Given the description of an element on the screen output the (x, y) to click on. 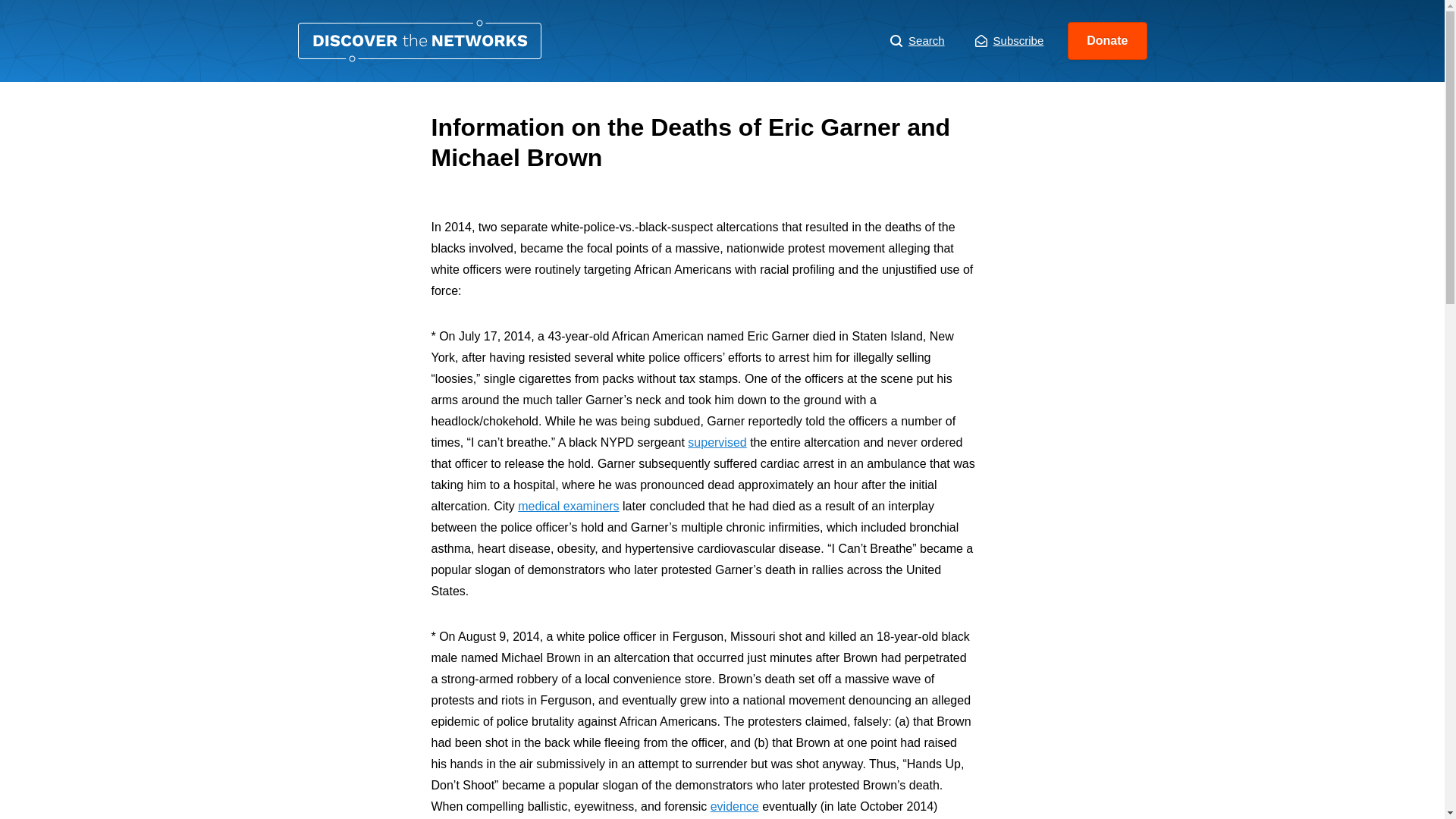
evidence (734, 806)
Search (916, 40)
supervised (716, 441)
Subscribe (1009, 40)
medical examiners (568, 505)
Donate (1107, 40)
Information on the Deaths of Eric Garner and Michael Brown (418, 40)
